Given the description of an element on the screen output the (x, y) to click on. 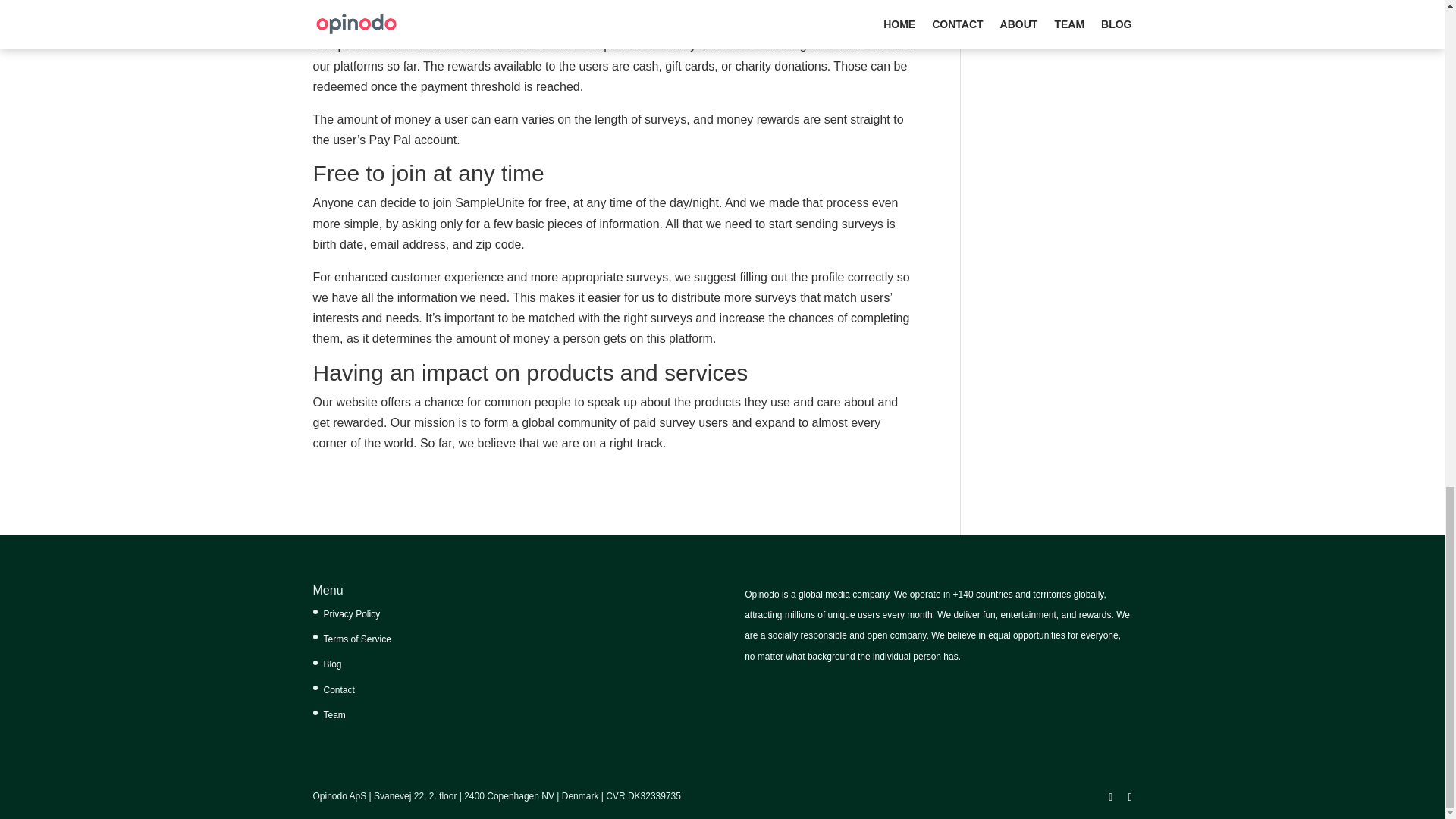
Terms of Service (356, 638)
Team (334, 715)
Privacy Policy (351, 614)
Contact (338, 689)
Blog (331, 664)
